Given the description of an element on the screen output the (x, y) to click on. 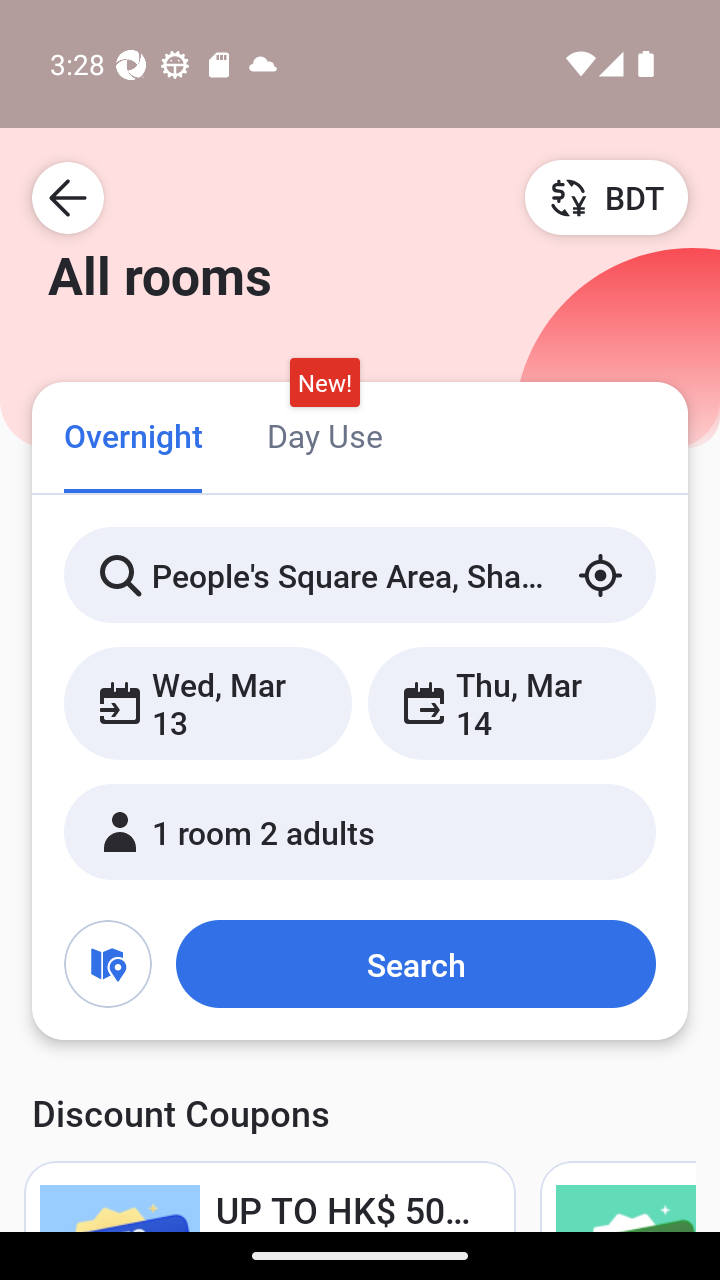
BDT (606, 197)
New! (324, 383)
Day Use (324, 434)
People's Square Area, Shanghai (359, 575)
Wed, Mar 13 (208, 703)
Thu, Mar 14 (511, 703)
1 room 2 adults (359, 831)
Search (415, 964)
